Given the description of an element on the screen output the (x, y) to click on. 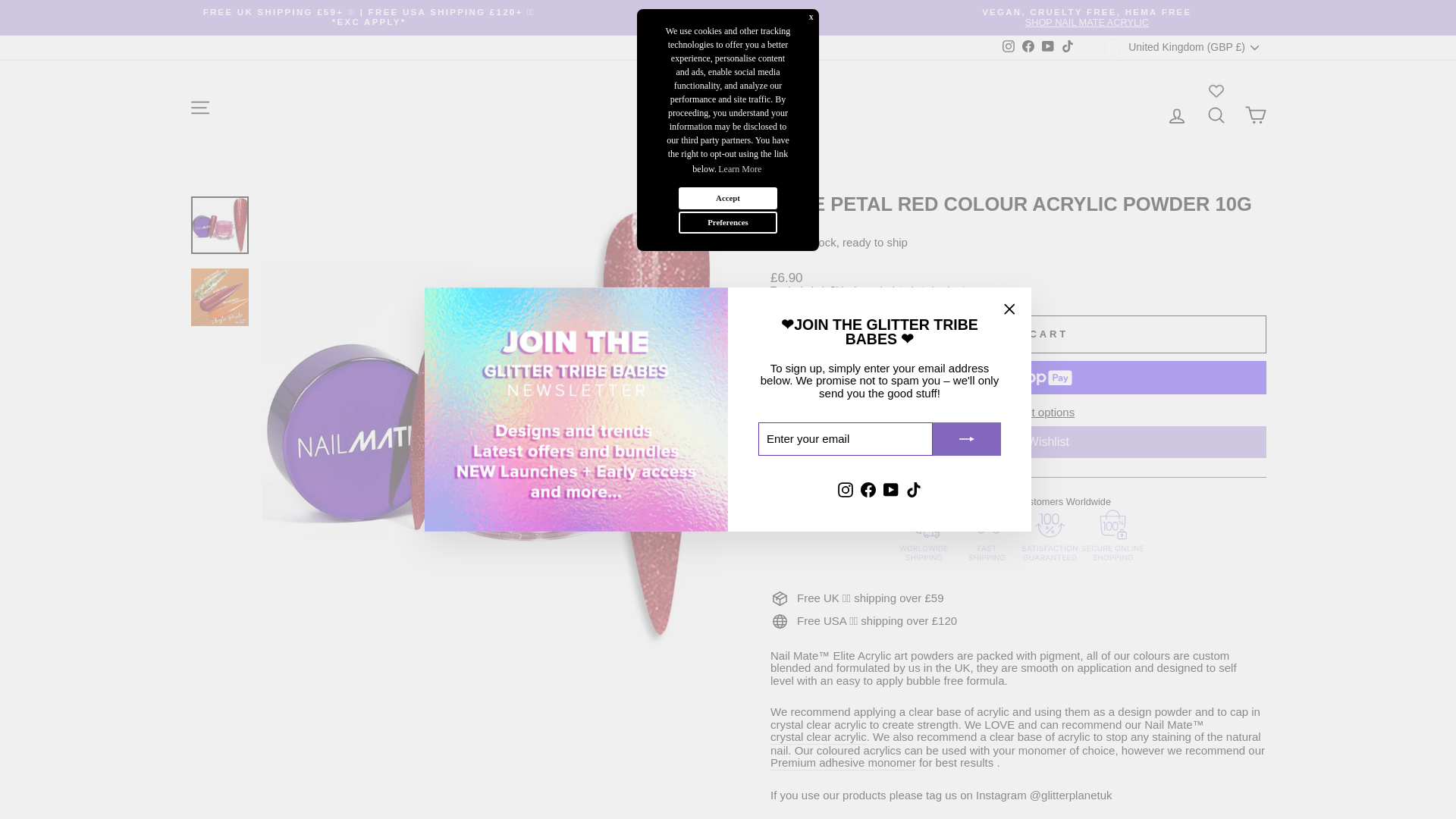
Glitter Planet on YouTube (890, 489)
Glitter Planet on Facebook (868, 489)
Glitter Planet on Facebook (1027, 47)
Glitter Planet on YouTube (1048, 47)
Glitter Planet on TikTok (913, 489)
icon-X (1009, 309)
Glitter Planet on TikTok (1067, 47)
Glitter Planet on Instagram (1007, 47)
ICON-SEARCH (1216, 115)
Glitter Planet on Instagram (845, 489)
ACCOUNT (1086, 17)
instagram (1177, 115)
ICON-HAMBURGER (1008, 46)
